Given the description of an element on the screen output the (x, y) to click on. 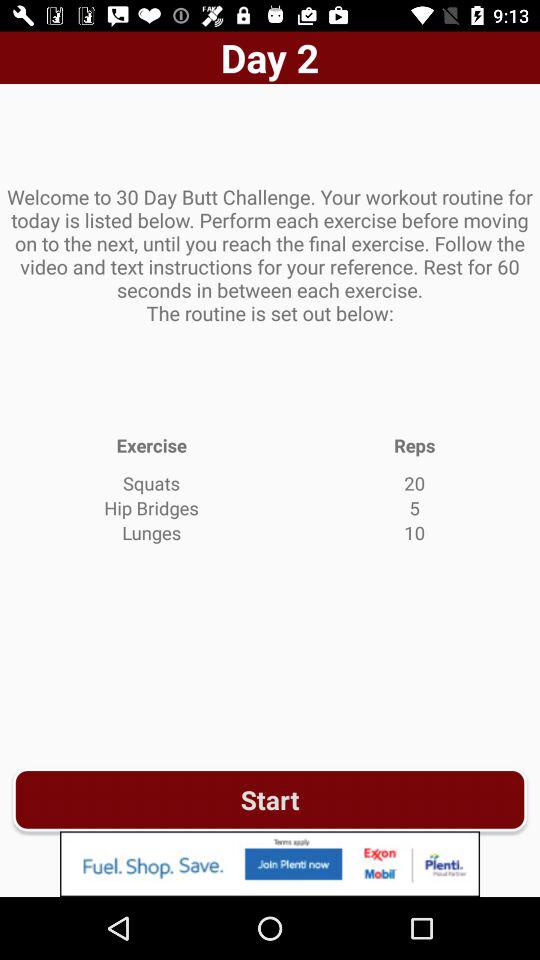
advertisement display (270, 864)
